Given the description of an element on the screen output the (x, y) to click on. 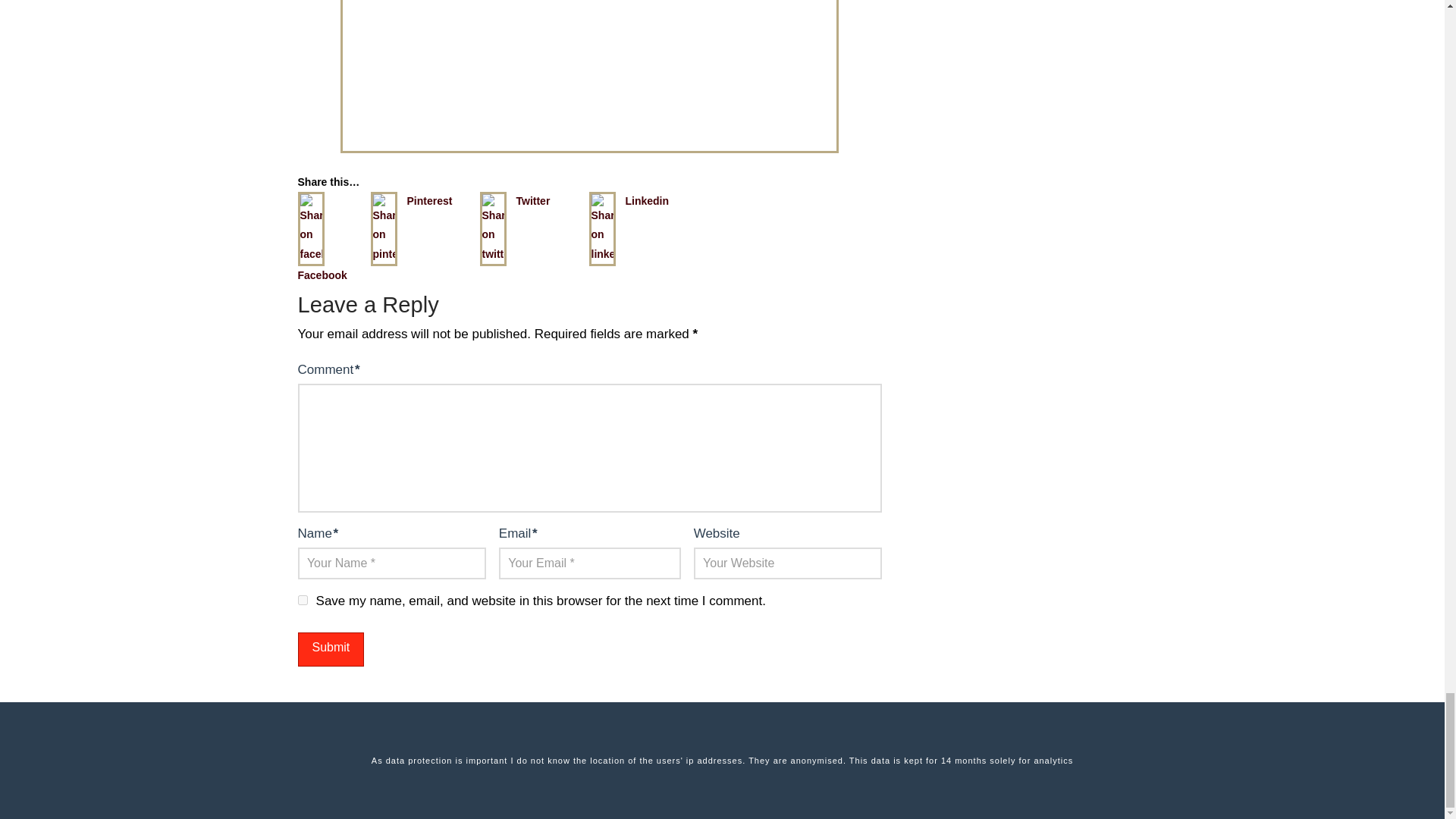
Twitter (532, 200)
Facebook (321, 275)
yes (302, 600)
Pinterest (428, 200)
Pinterest (424, 209)
Submit (330, 649)
Twitter (533, 209)
Facebook (315, 209)
Linkedin (646, 200)
